Given the description of an element on the screen output the (x, y) to click on. 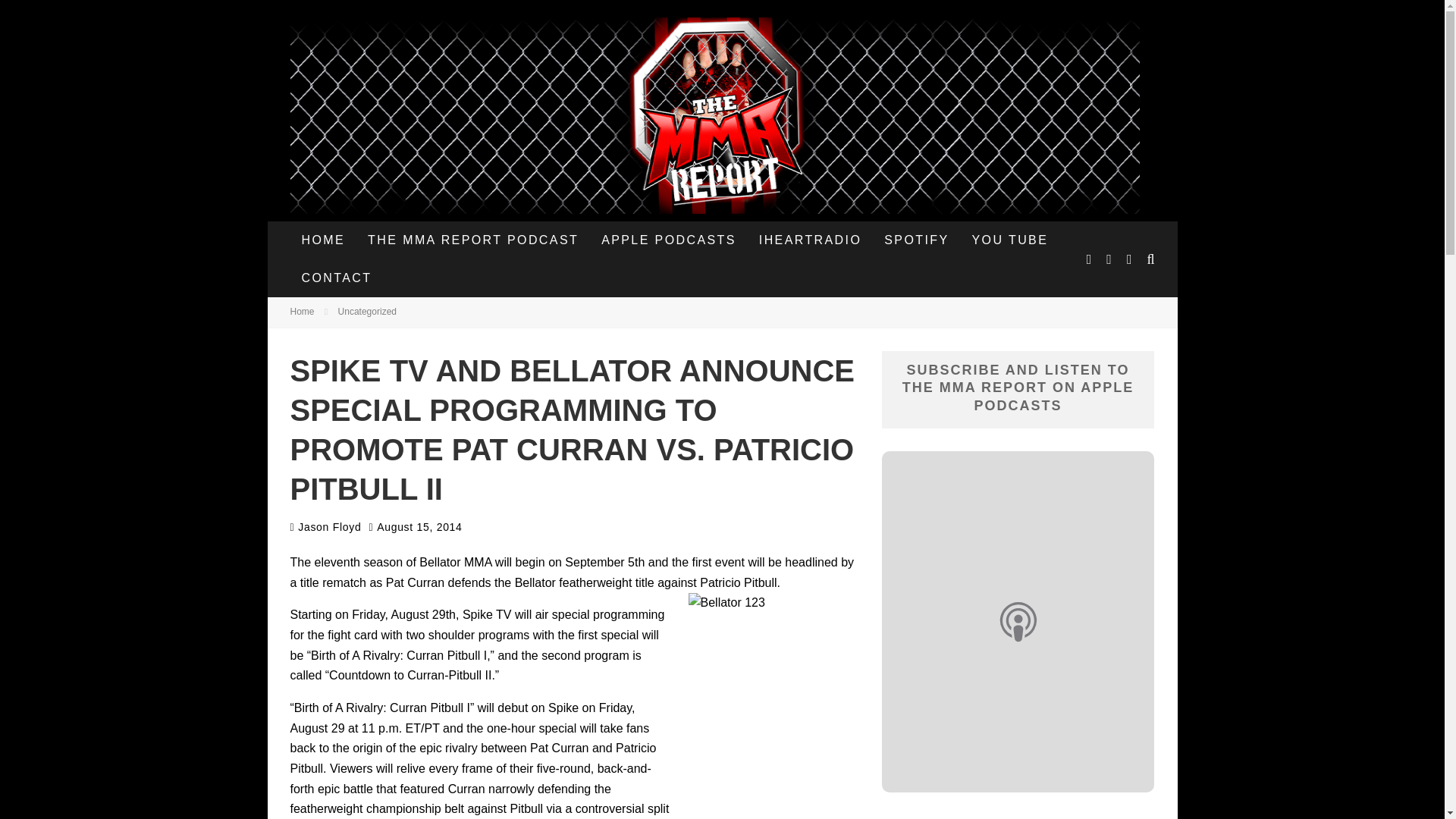
YOU TUBE (1009, 240)
CONTACT (335, 278)
IHEARTRADIO (810, 240)
Home (301, 311)
Uncategorized (366, 311)
HOME (322, 240)
APPLE PODCASTS (668, 240)
THE MMA REPORT PODCAST (472, 240)
Jason Floyd (325, 526)
SPOTIFY (915, 240)
